Given the description of an element on the screen output the (x, y) to click on. 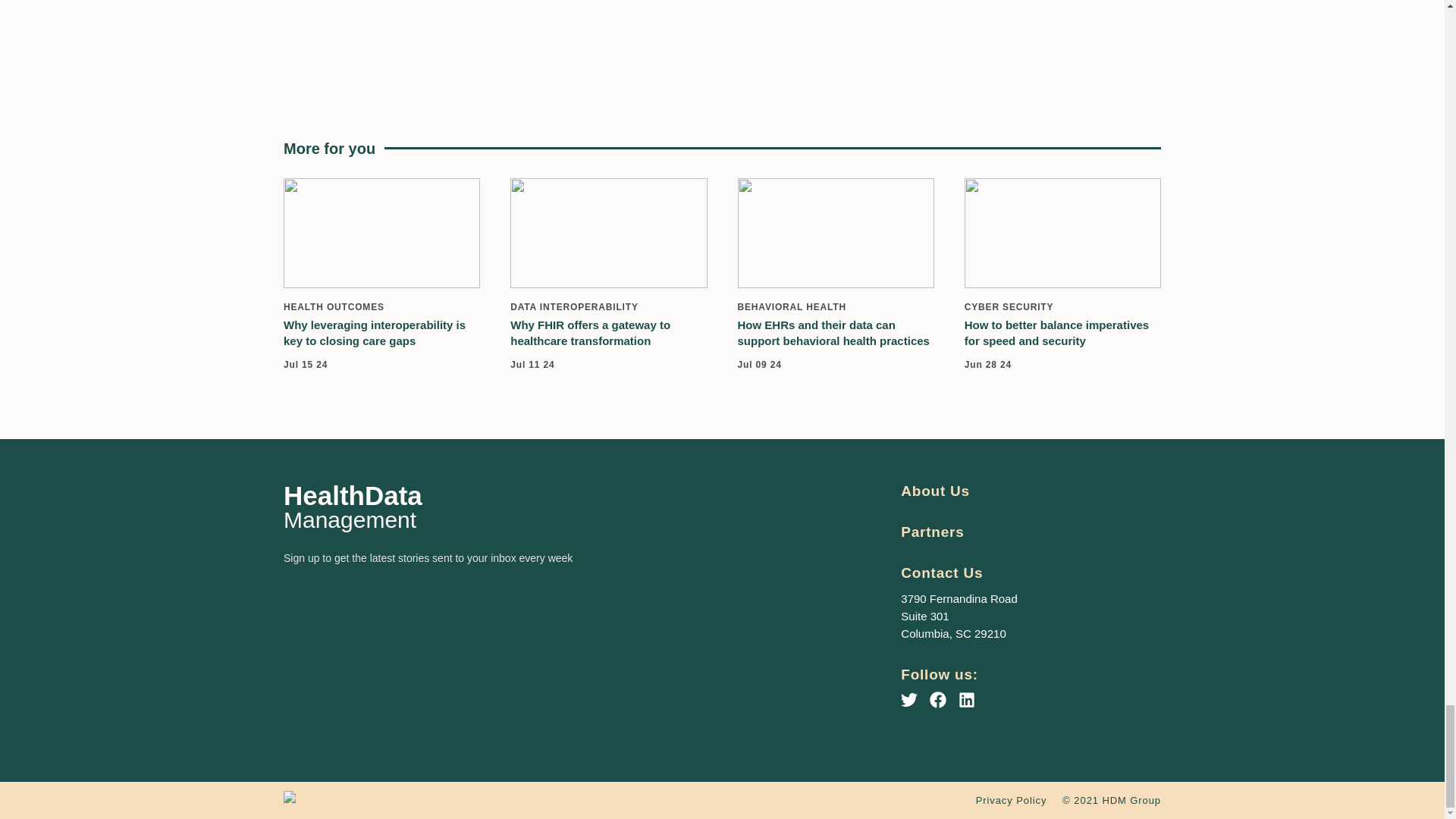
How to better balance imperatives for speed and security (1055, 332)
Why FHIR offers a gateway to healthcare transformation (590, 332)
Partners (932, 531)
CYBER SECURITY (1008, 307)
Privacy Policy (1010, 799)
DATA INTEROPERABILITY (575, 307)
About Us (935, 490)
HEALTH OUTCOMES (333, 307)
BEHAVIORAL HEALTH (790, 307)
